Given the description of an element on the screen output the (x, y) to click on. 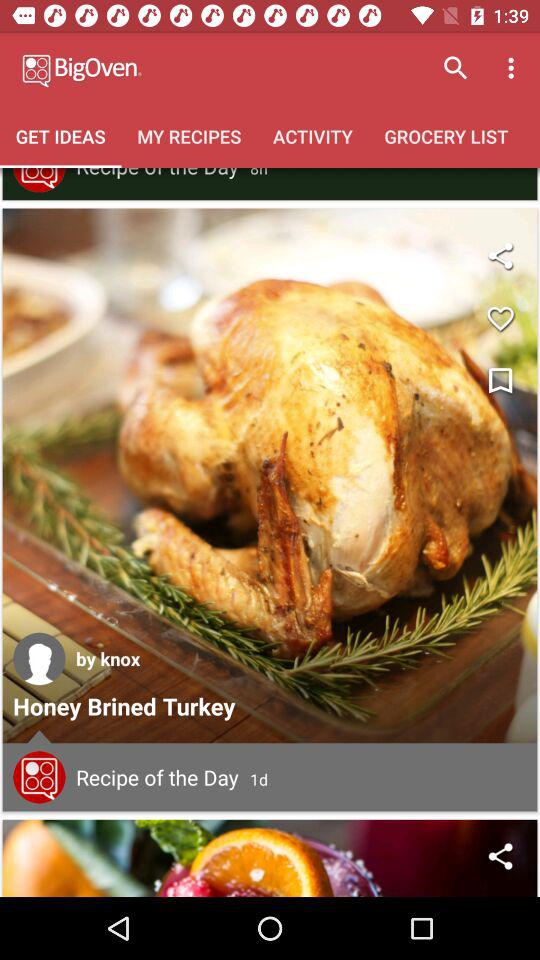
read comments (39, 777)
